Given the description of an element on the screen output the (x, y) to click on. 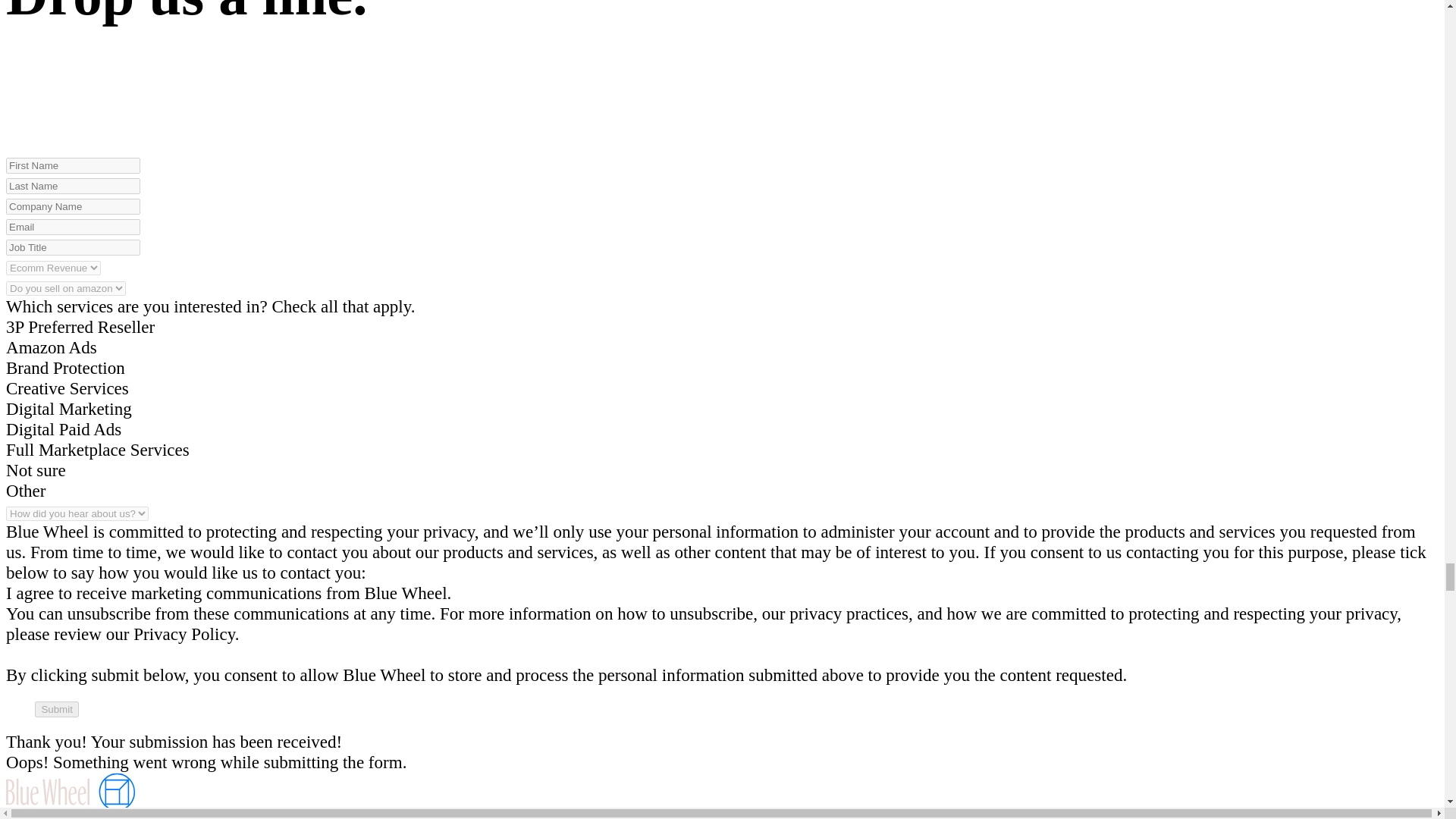
Submit (56, 709)
